Given the description of an element on the screen output the (x, y) to click on. 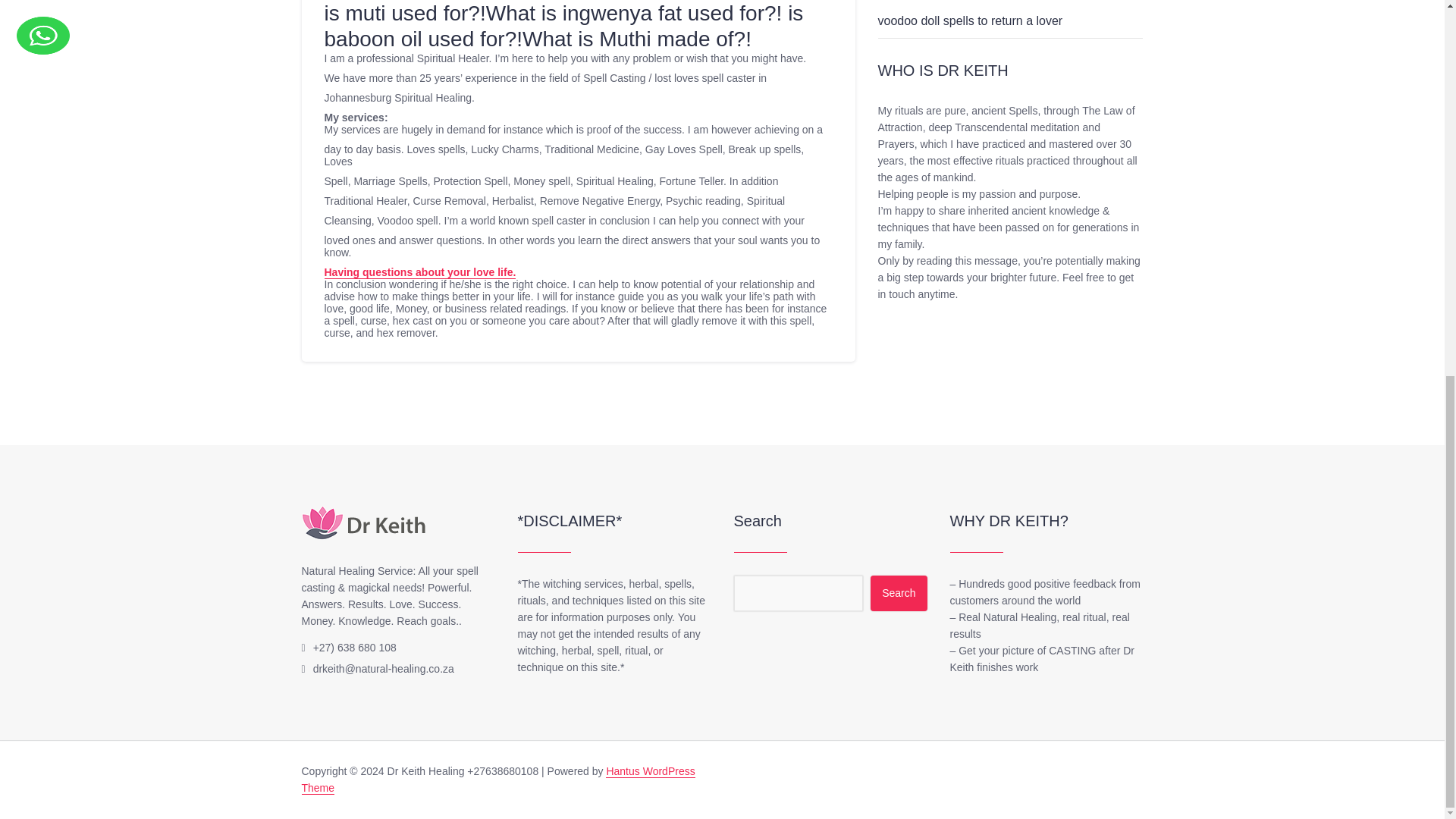
Search (898, 592)
Having questions about your love life. (420, 272)
Search (898, 592)
Search (898, 592)
Hantus WordPress Theme (498, 779)
voodoo doll spells to return a lover (969, 20)
